Given the description of an element on the screen output the (x, y) to click on. 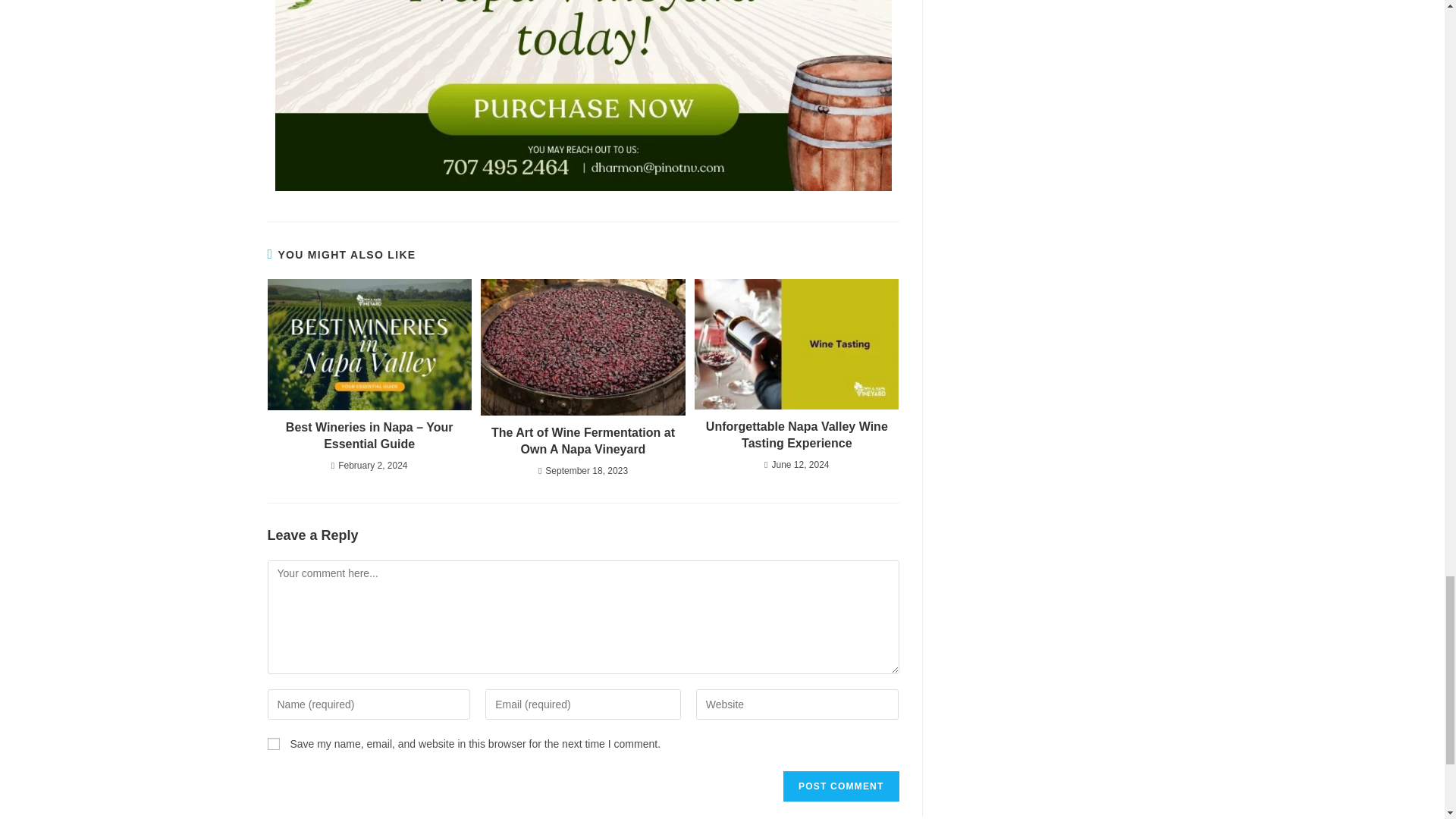
Post Comment (840, 786)
Unforgettable Napa Valley Wine Tasting Experience (796, 435)
The Art of Wine Fermentation at Own A Napa Vineyard (582, 441)
Post Comment (840, 786)
yes (272, 743)
